Given the description of an element on the screen output the (x, y) to click on. 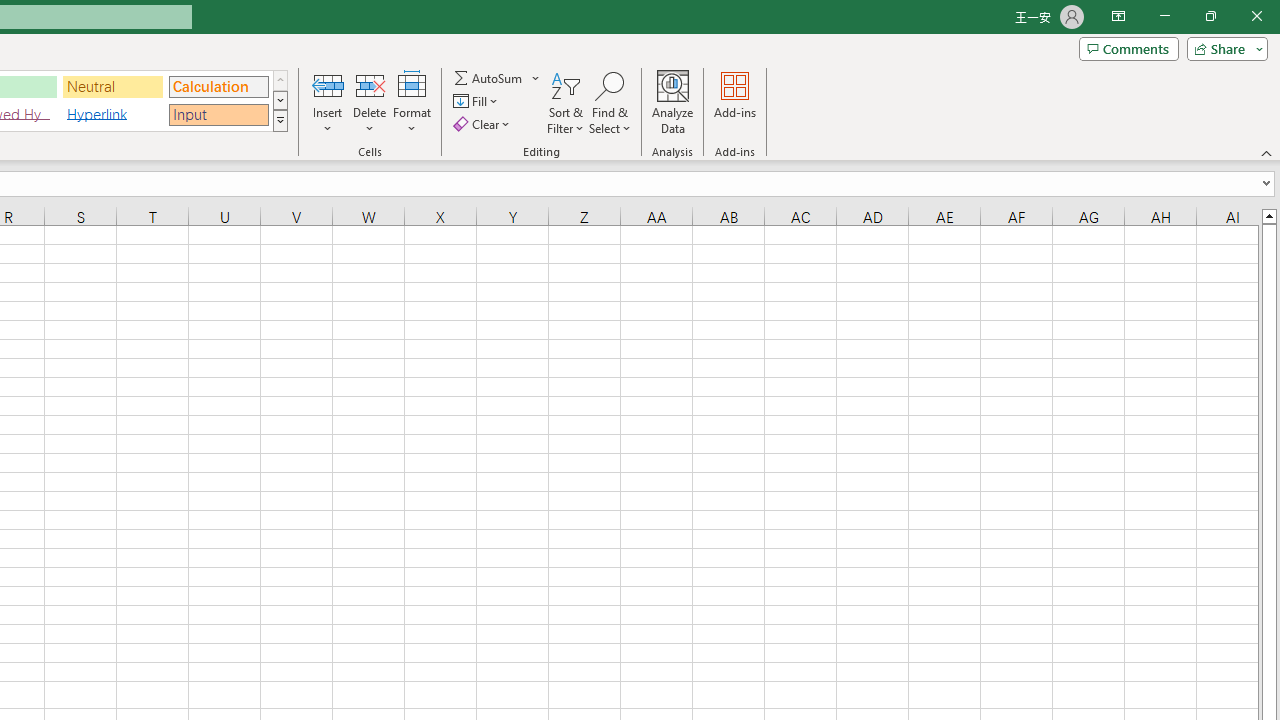
Sort & Filter (566, 102)
